Given the description of an element on the screen output the (x, y) to click on. 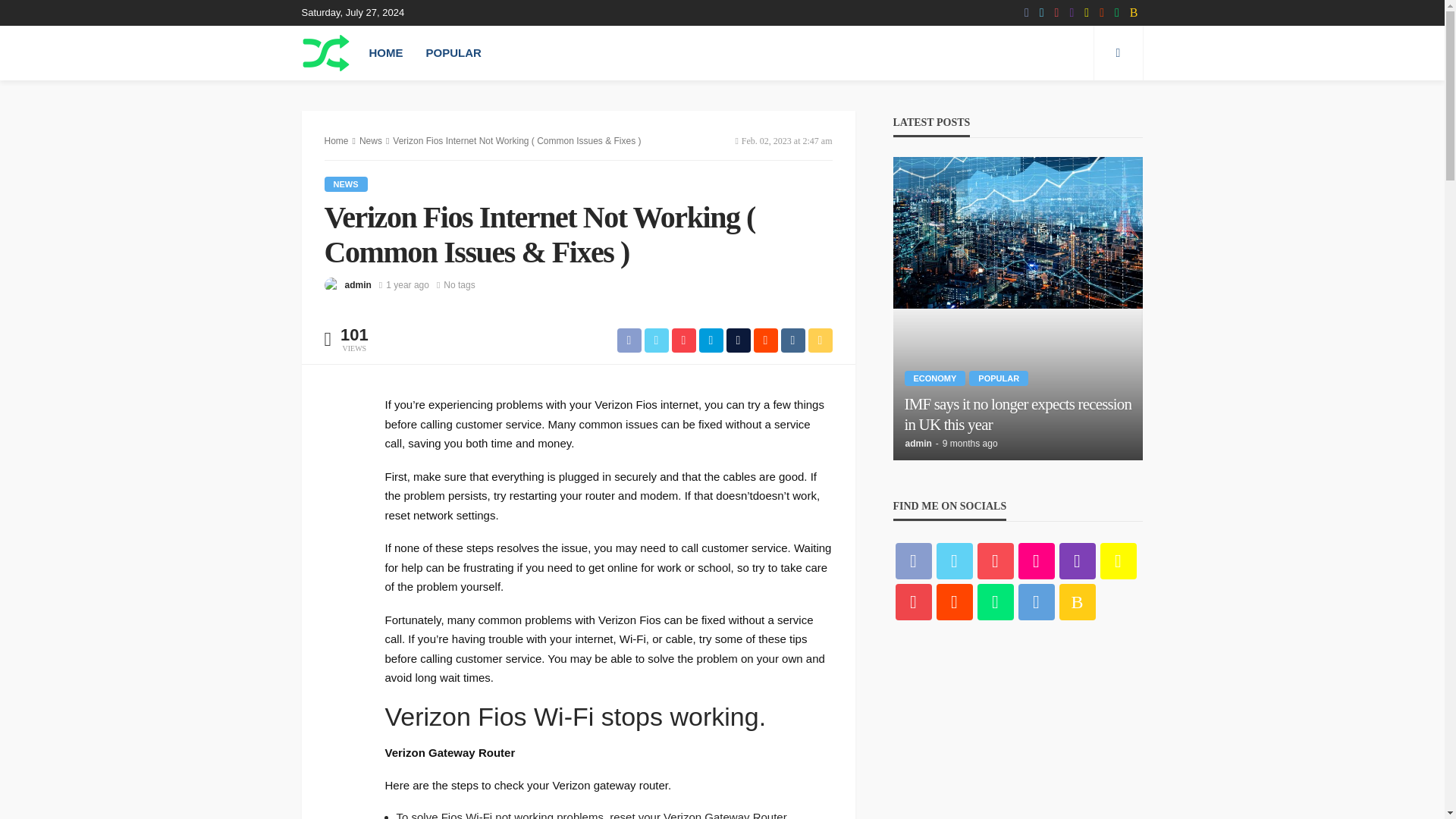
Search (1118, 52)
InternetShuffle - See The Shuffle On The Internet (325, 52)
News (370, 140)
News (346, 183)
Home (336, 140)
NEWS (346, 183)
HOME (386, 52)
admin (357, 284)
POPULAR (452, 52)
